Given the description of an element on the screen output the (x, y) to click on. 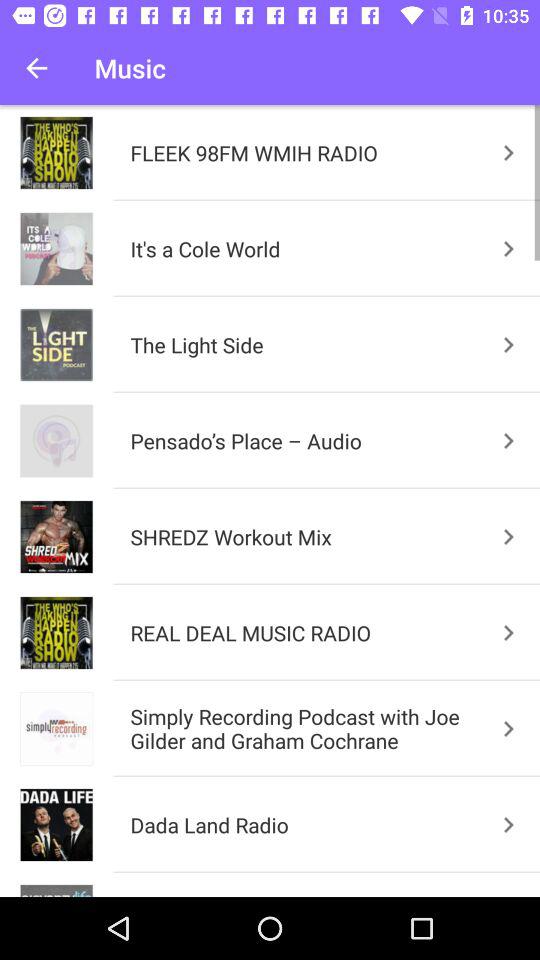
click on the arrow which is right hand side of the text the light shade (508, 344)
click on the image which is on the left side of simply recording podcast with joe (55, 729)
click on the icon which is right to the simply recording podcast with joe clider and graham cochrane (508, 728)
click on the image of pensados placeaudio (55, 441)
click on real deal music radio (508, 632)
select the image which is left to text simply recording podcast with joe glider and graham cochrane (55, 729)
click on the image which is left hand side of shredz workout mix (55, 537)
